Given the description of an element on the screen output the (x, y) to click on. 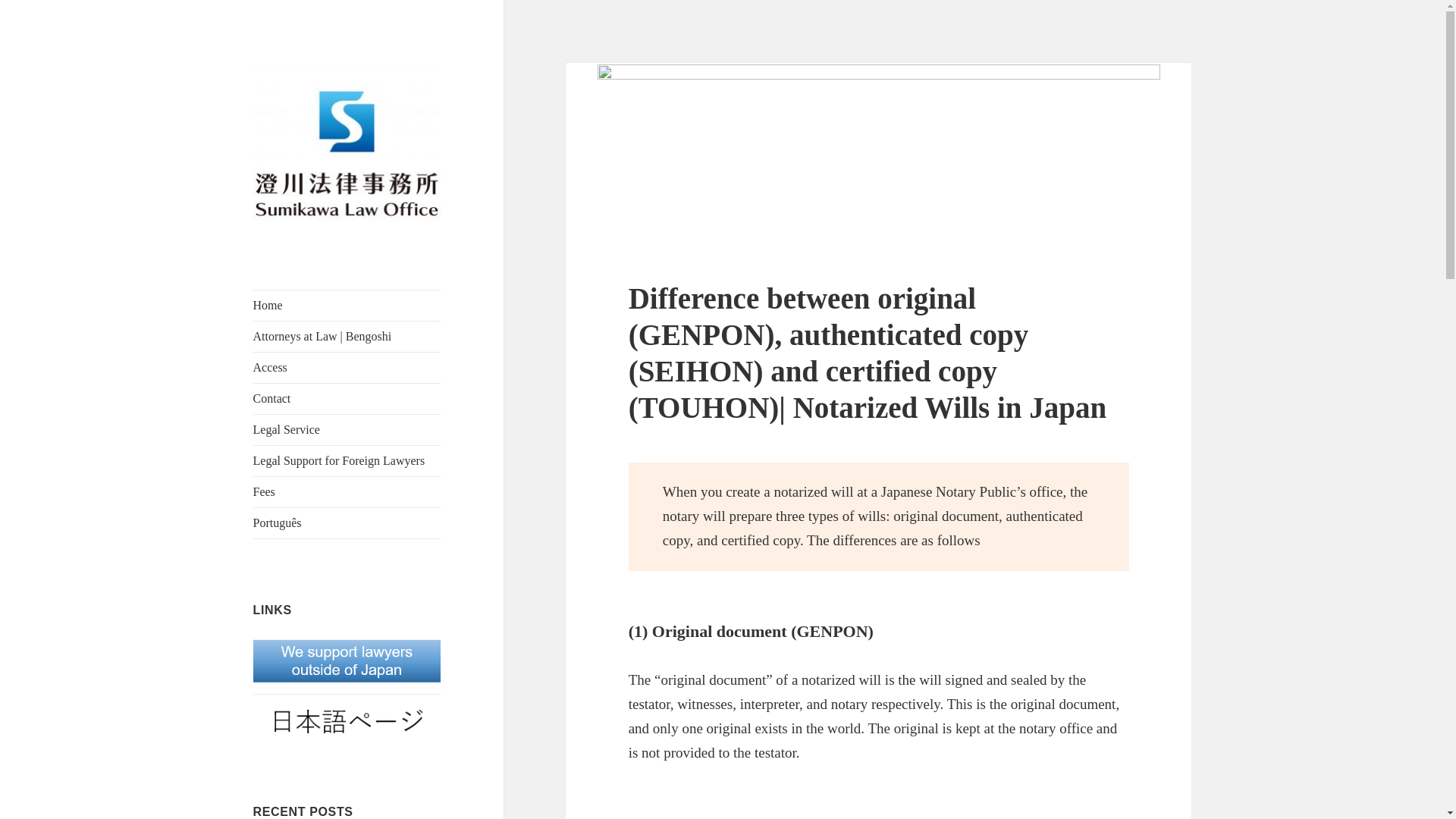
Access (347, 367)
Contact (347, 399)
Legal Support for Foreign Lawyers (347, 460)
Fees (347, 491)
Home (347, 305)
Legal Service (347, 429)
